Given the description of an element on the screen output the (x, y) to click on. 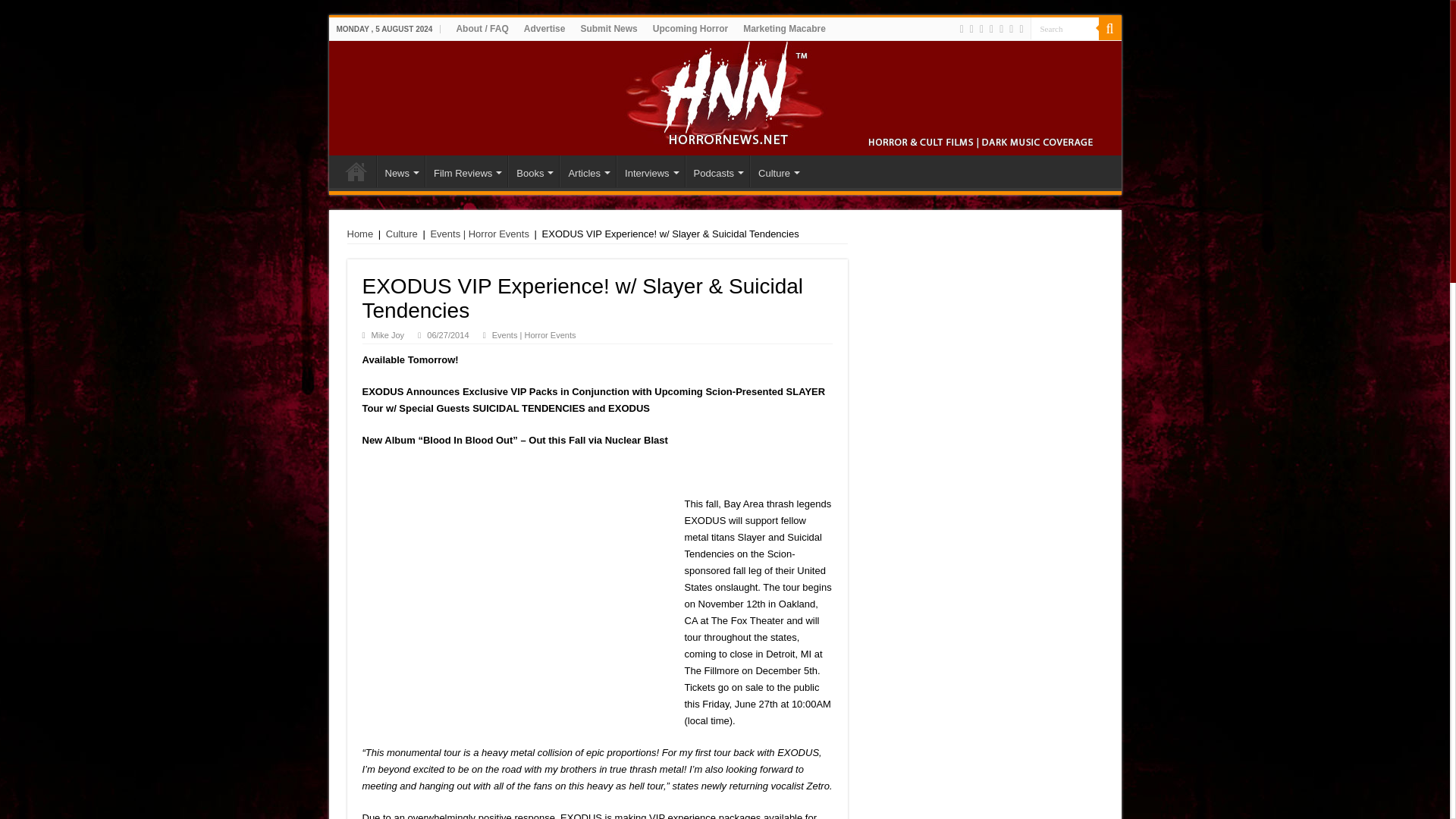
Film Reviews (465, 171)
News (400, 171)
Search (1063, 28)
Upcoming Horror (690, 28)
Search (1109, 28)
Submit News (608, 28)
Search (1063, 28)
Advertise on HorrorNews.net (544, 28)
Search (1063, 28)
Marketing Macabre (783, 28)
